Given the description of an element on the screen output the (x, y) to click on. 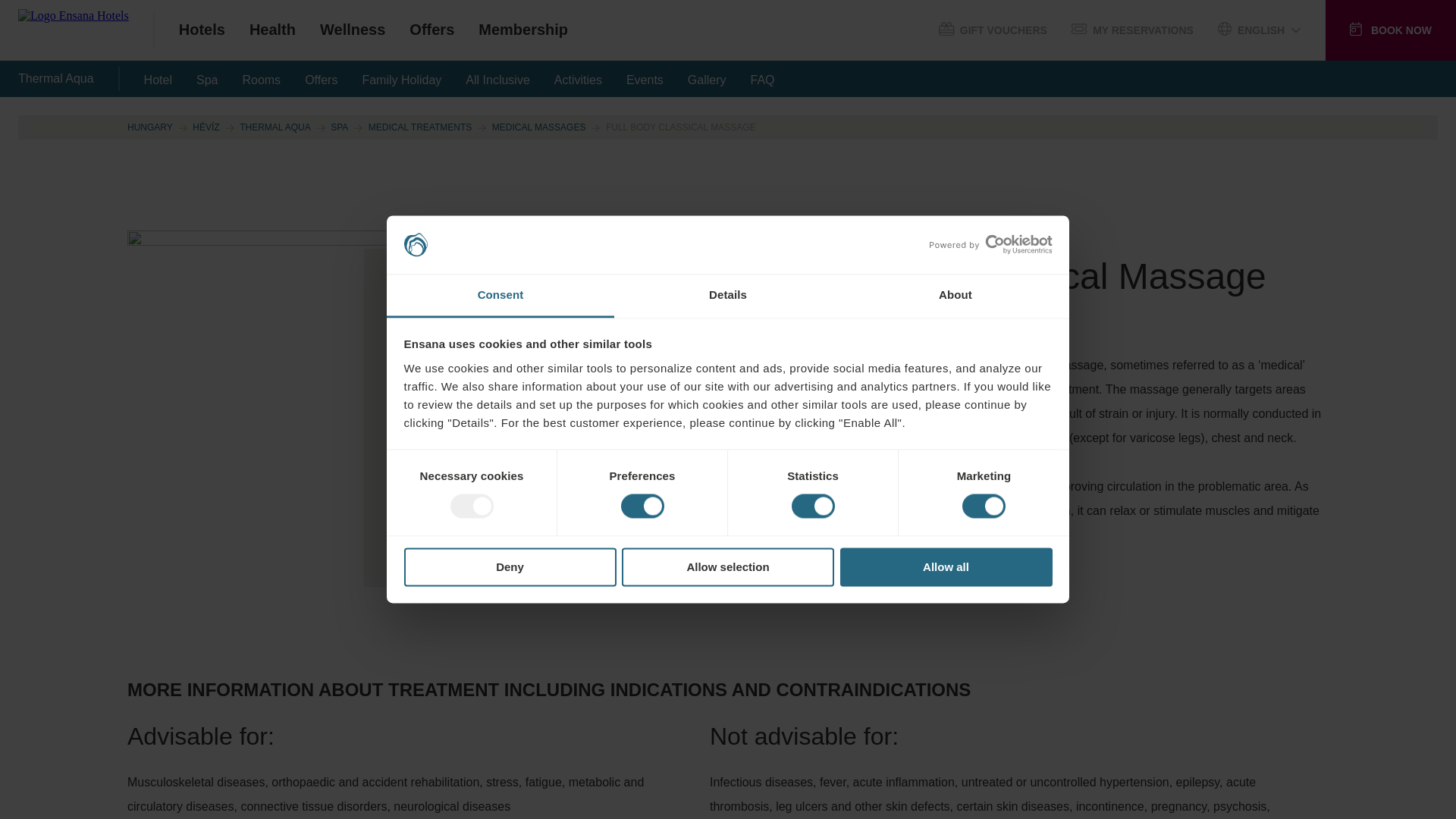
Consent (500, 295)
About (954, 295)
Details (727, 295)
